Given the description of an element on the screen output the (x, y) to click on. 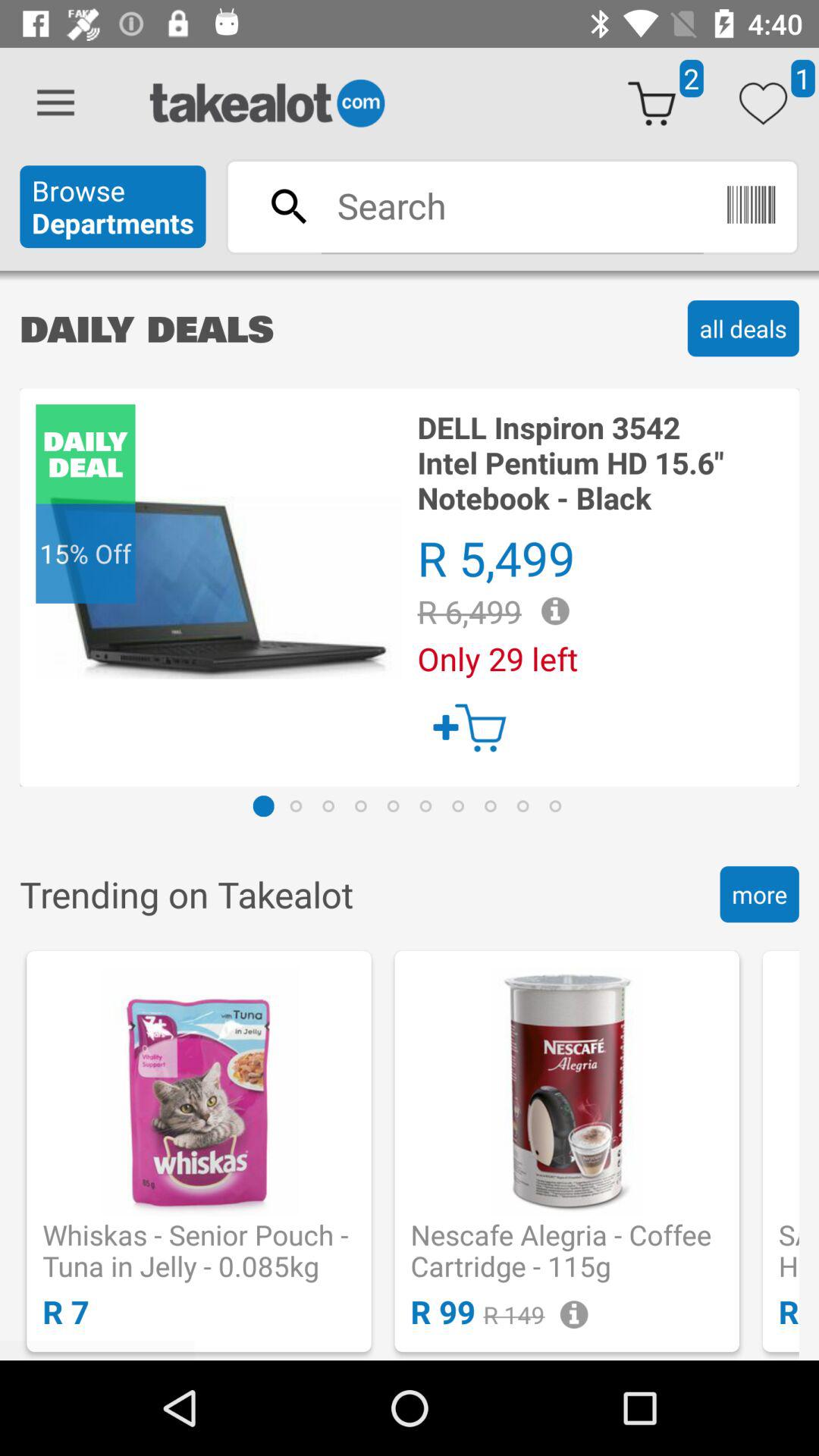
search products (512, 205)
